Given the description of an element on the screen output the (x, y) to click on. 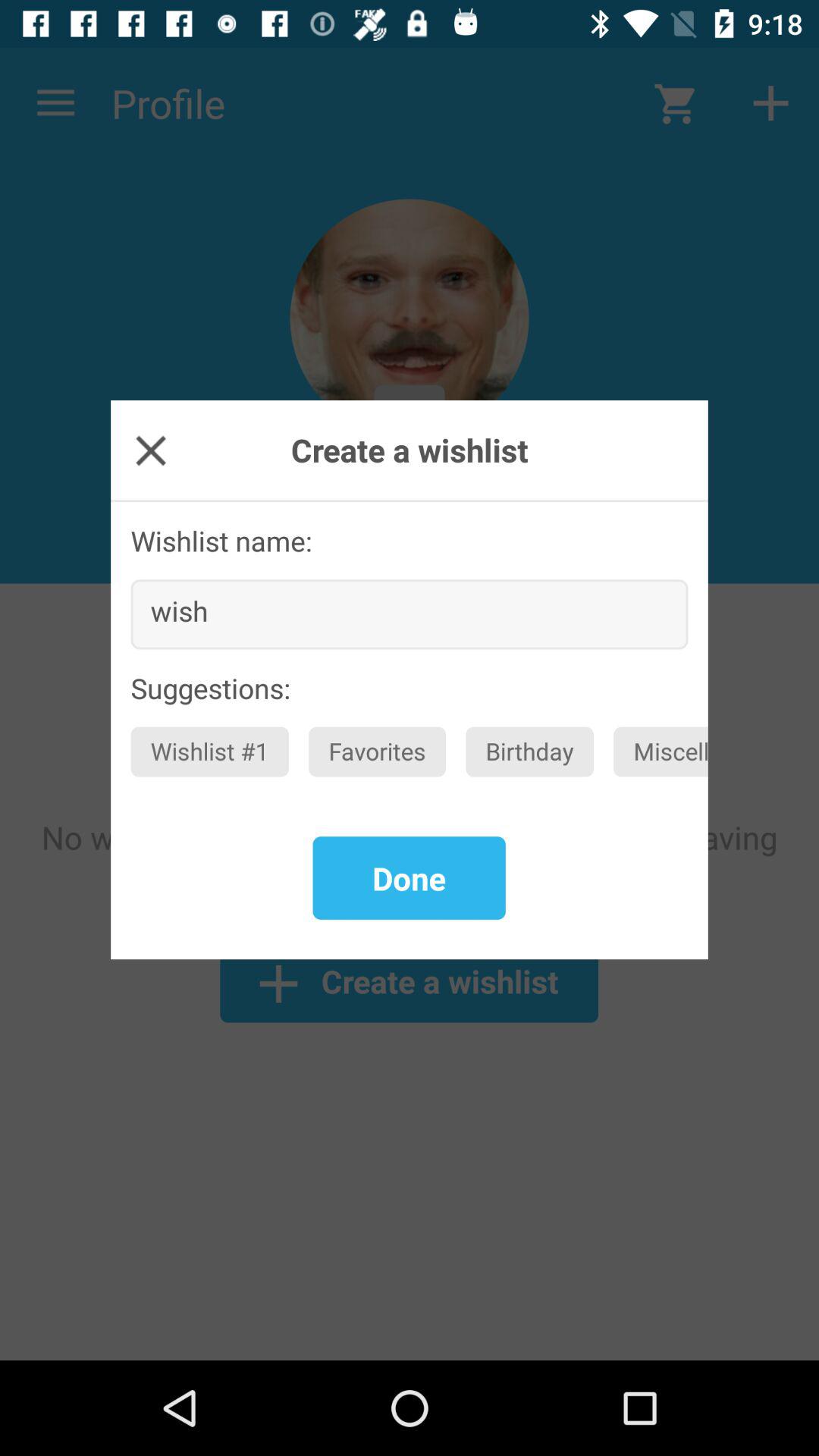
close the list (150, 450)
